Given the description of an element on the screen output the (x, y) to click on. 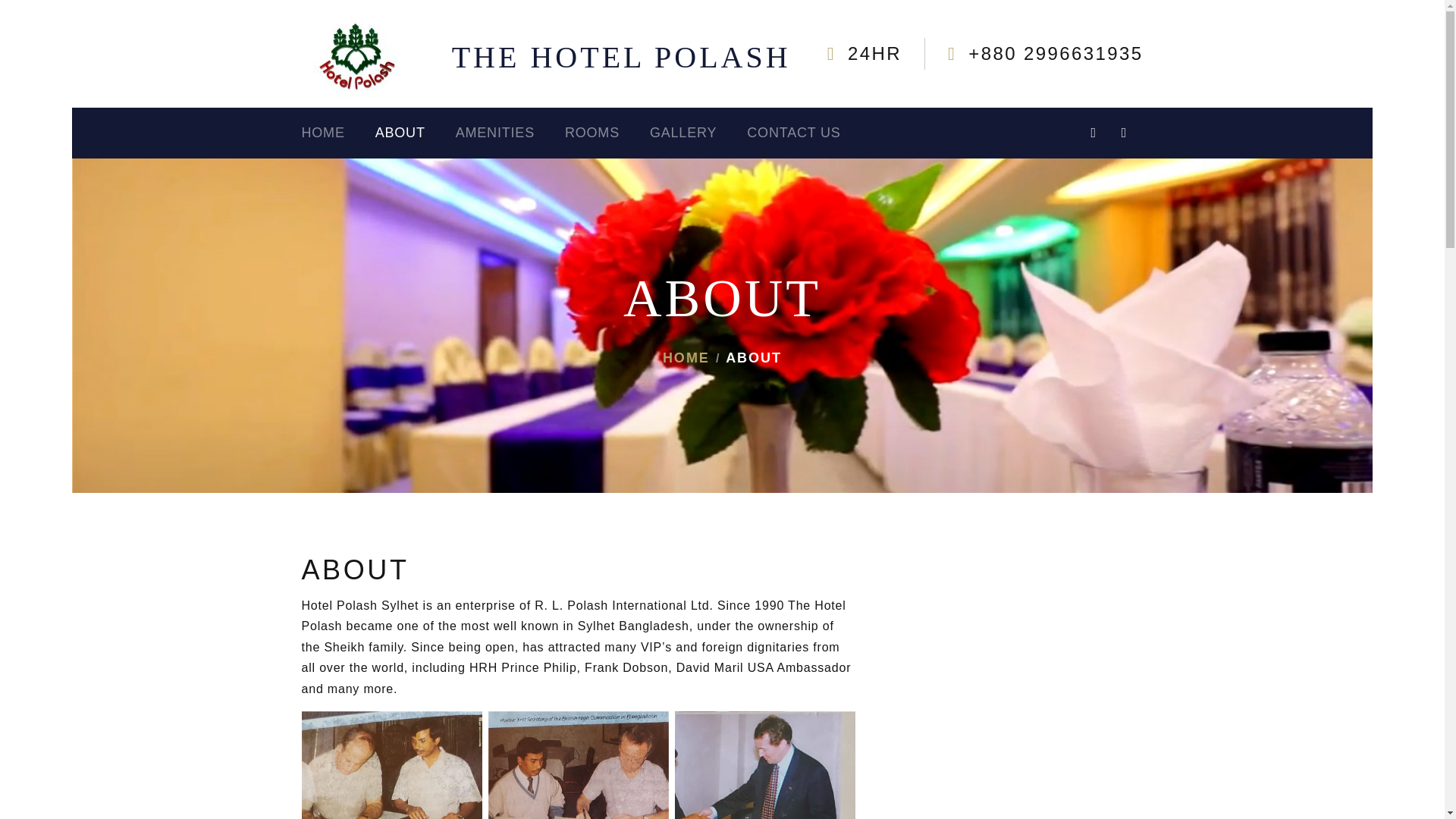
CONTACT US (808, 132)
GALLERY (697, 132)
ABOUT (753, 357)
THE HOTEL POLASH (620, 57)
Gallery (697, 132)
YouTube (1123, 132)
ABOUT (415, 132)
Home (338, 132)
AMENITIES (509, 132)
Amenities (509, 132)
HOME (686, 357)
ROOMS (606, 132)
About (415, 132)
Facebook (1093, 132)
Rooms (606, 132)
